Given the description of an element on the screen output the (x, y) to click on. 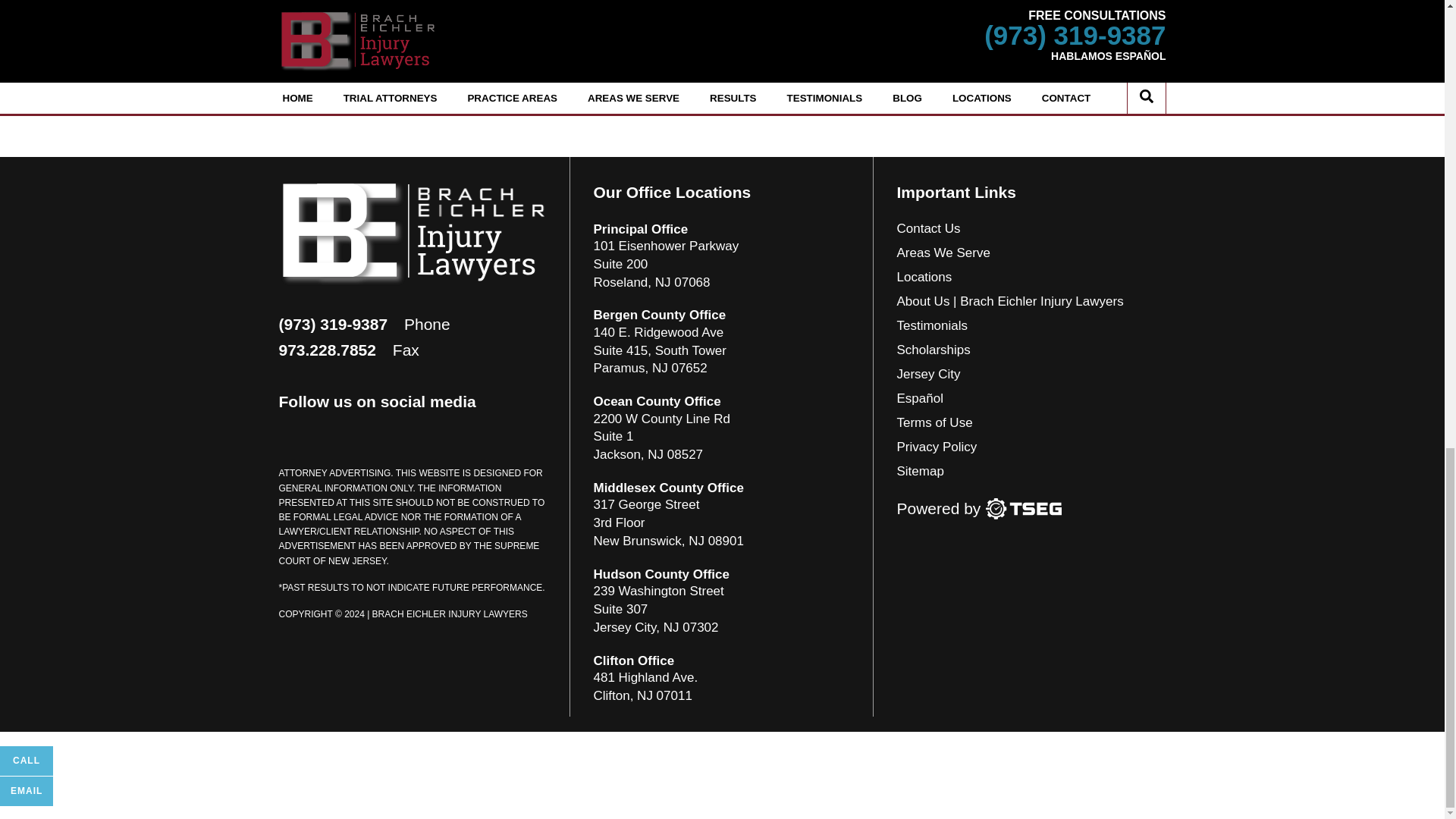
2020-05-11T15:21:45-0400 (373, 46)
